Given the description of an element on the screen output the (x, y) to click on. 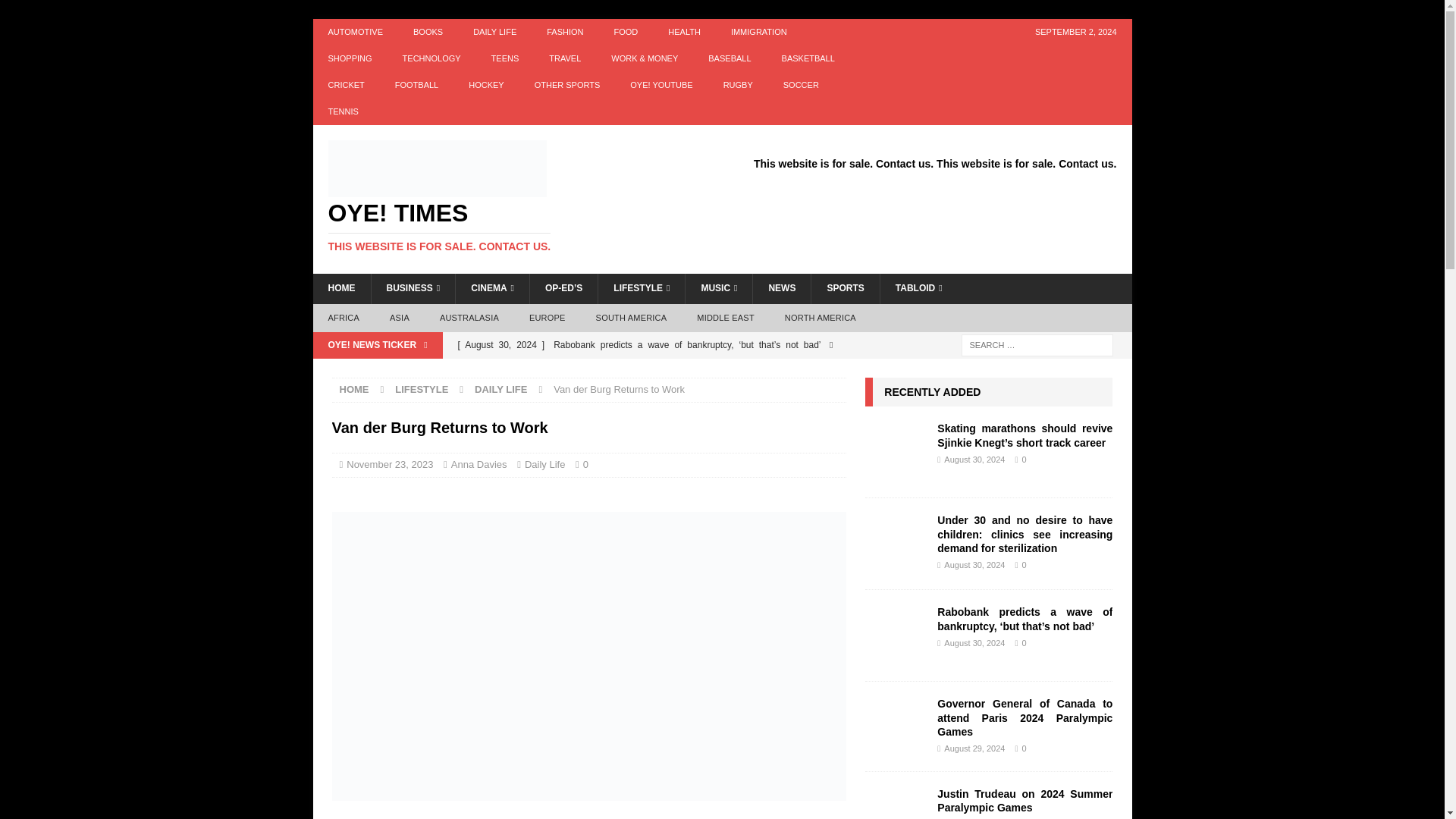
IMMIGRATION (759, 31)
OTHER SPORTS (567, 85)
TECHNOLOGY (431, 58)
FOOD (625, 31)
CRICKET (345, 85)
OYE! YOUTUBE (660, 85)
TENNIS (342, 111)
HOME (341, 288)
LIFESTYLE (640, 288)
BASEBALL (729, 58)
